Given the description of an element on the screen output the (x, y) to click on. 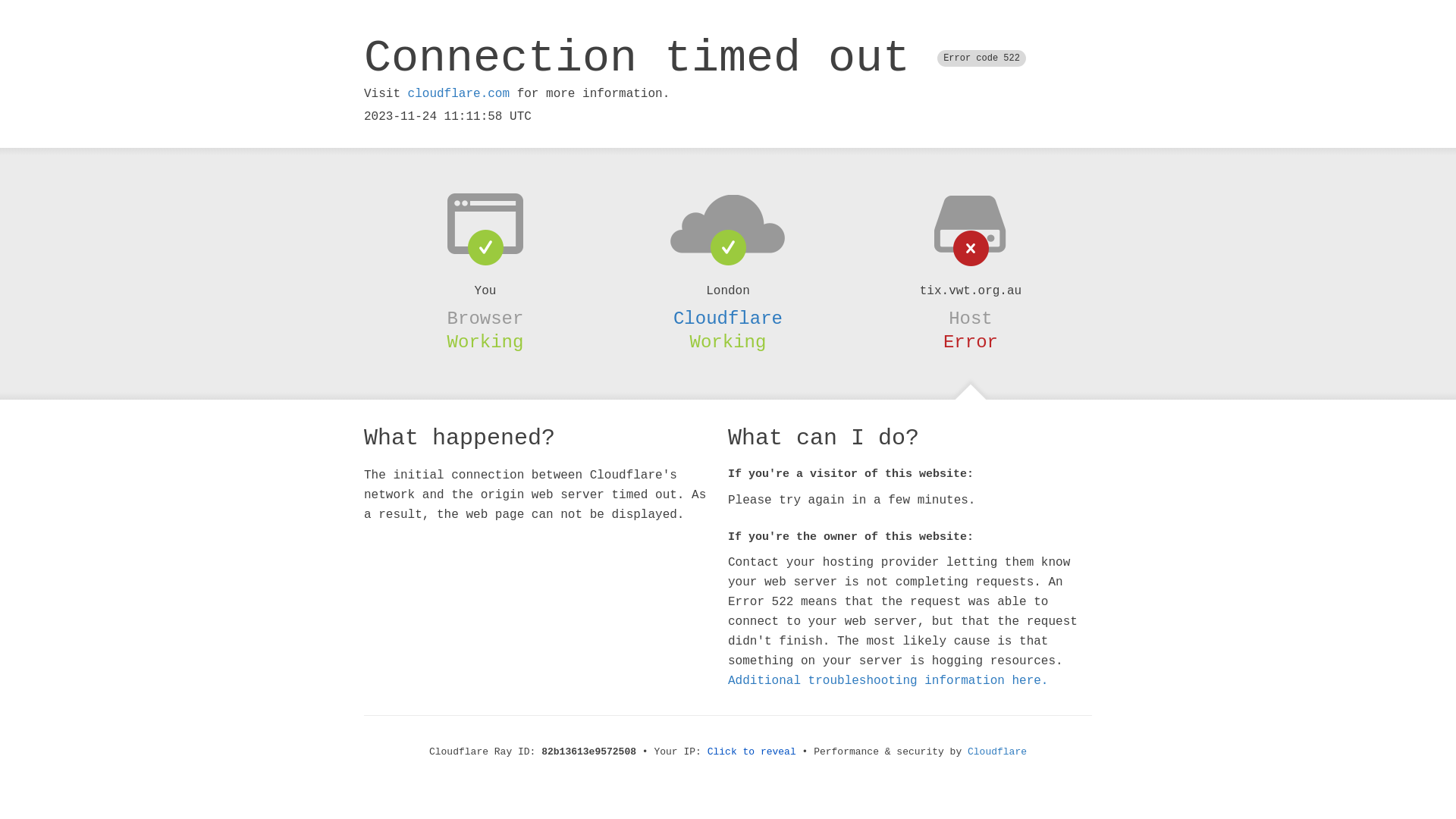
Cloudflare Element type: text (996, 751)
Additional troubleshooting information here. Element type: text (888, 680)
Cloudflare Element type: text (727, 318)
cloudflare.com Element type: text (458, 93)
Click to reveal Element type: text (751, 751)
